Given the description of an element on the screen output the (x, y) to click on. 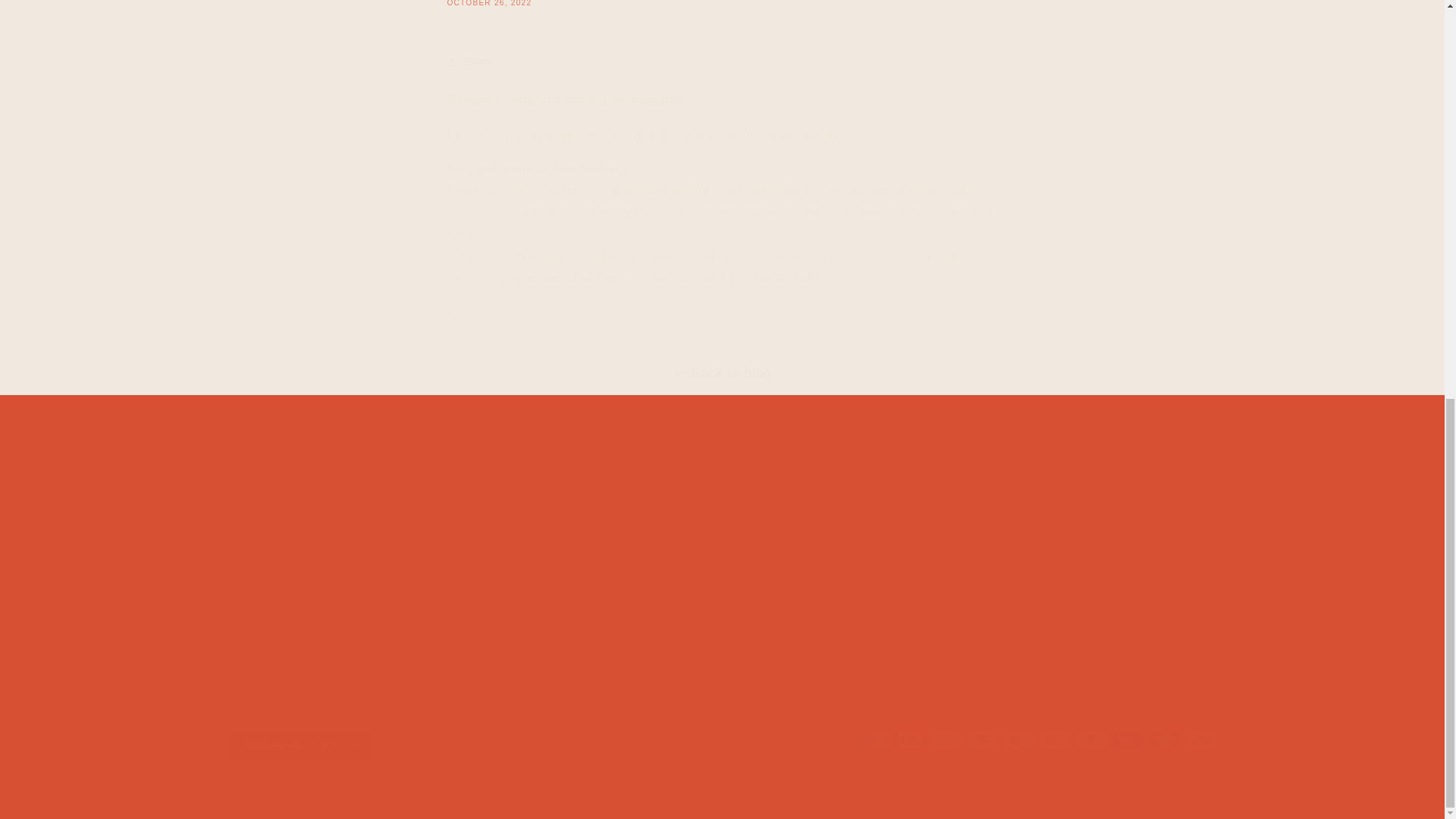
Share (721, 3)
